Given the description of an element on the screen output the (x, y) to click on. 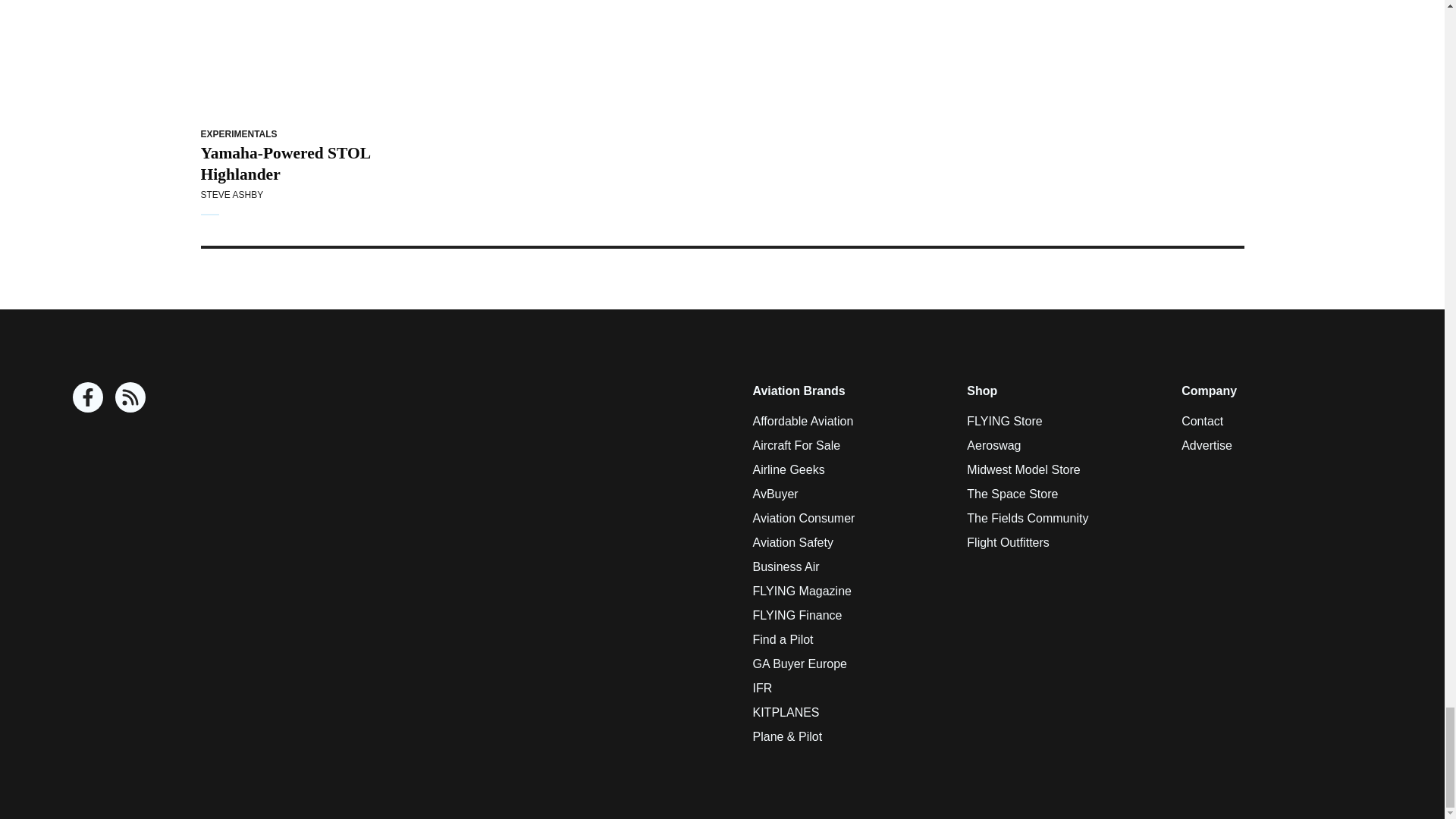
Facebook (87, 397)
Rss (130, 397)
Yamaha-Powered STOL Highlander (297, 58)
